Given the description of an element on the screen output the (x, y) to click on. 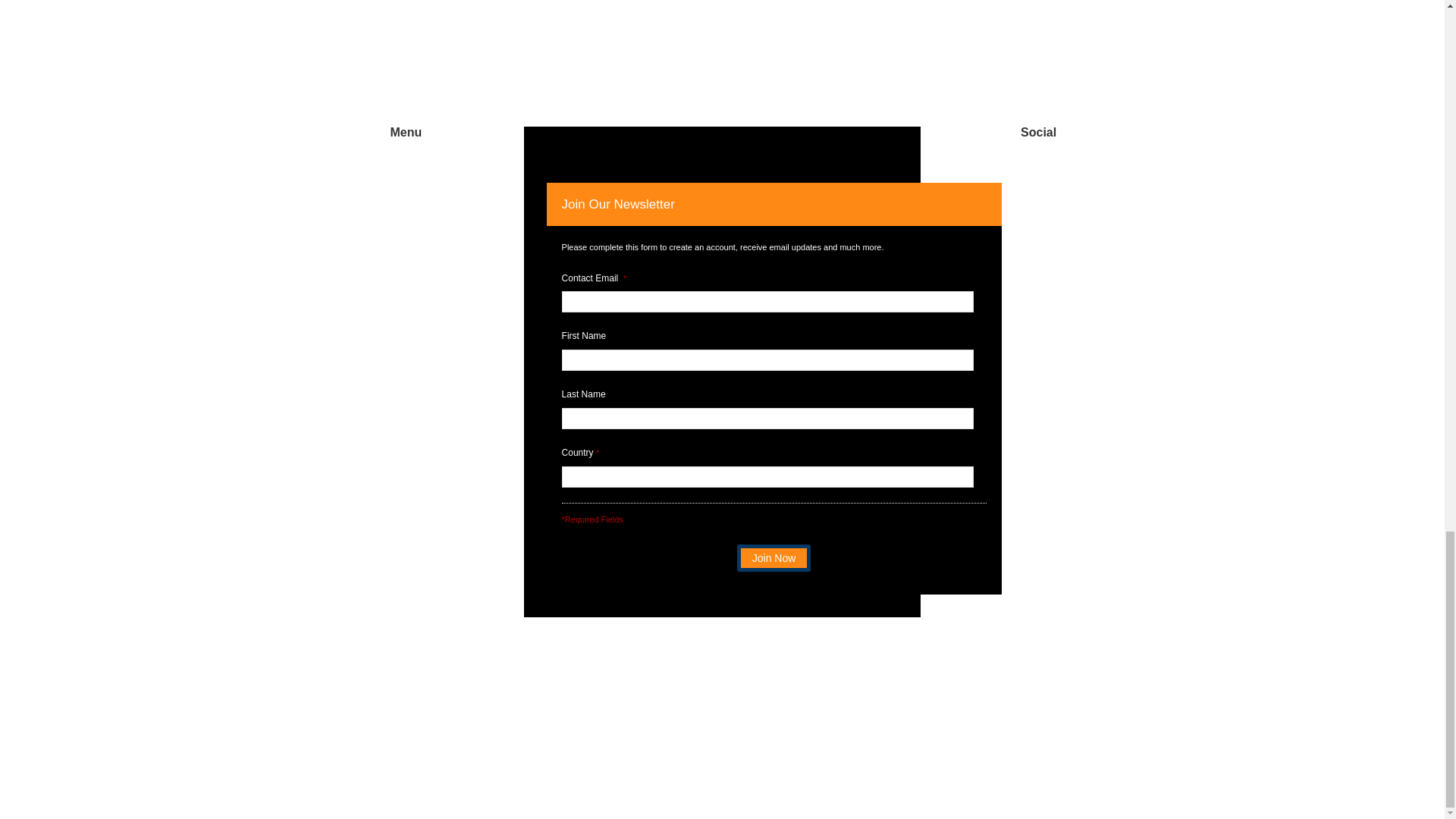
Follow on Youtube (1050, 170)
Join Now (773, 557)
Follow on Instagram (990, 170)
Follow on Pinterest (1080, 170)
Follow on TikTok (1111, 170)
Follow on Spotify (1038, 200)
Follow on Facebook (959, 170)
Follow on X (1020, 170)
